Given the description of an element on the screen output the (x, y) to click on. 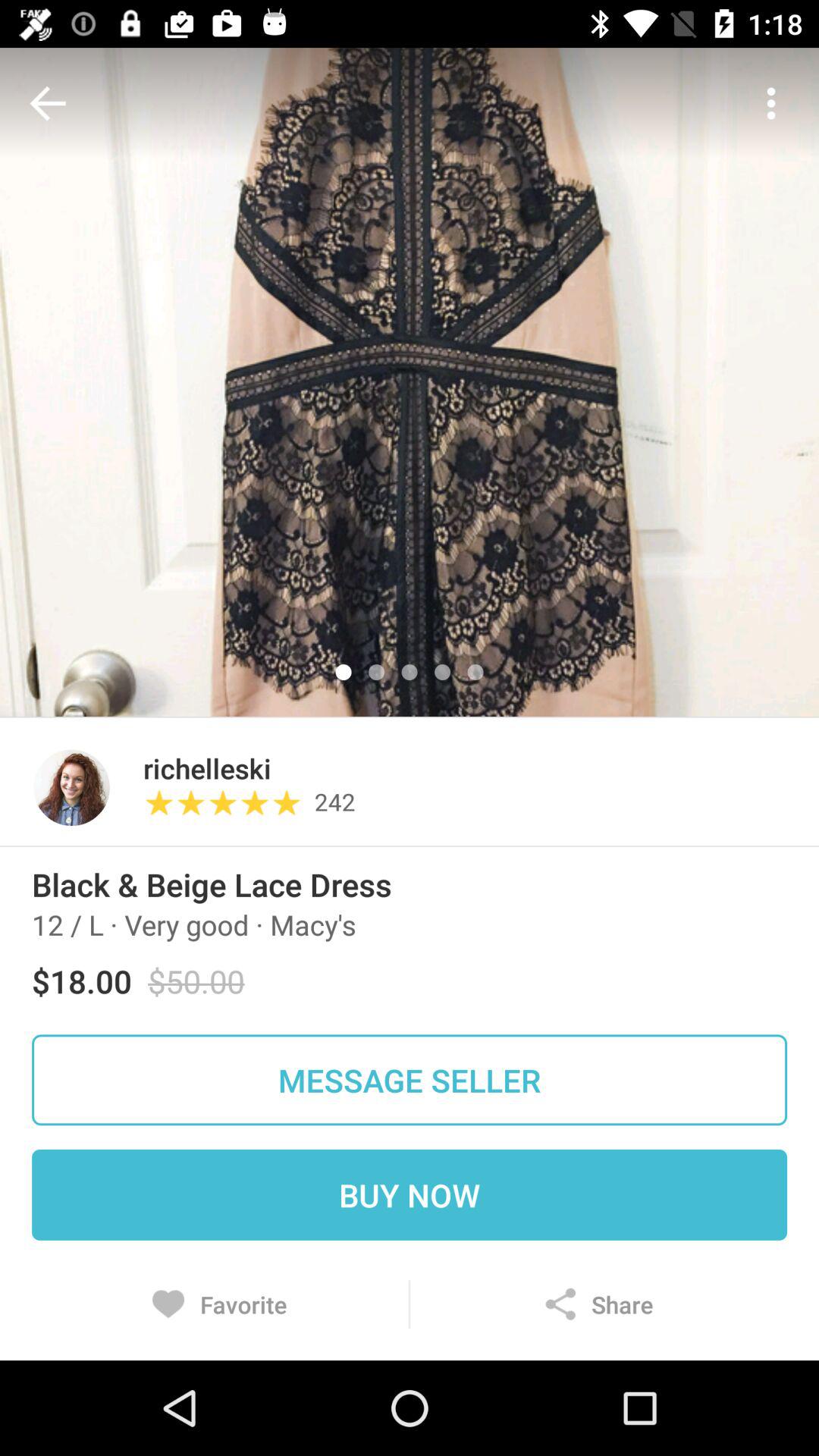
flip until richelleski icon (207, 768)
